Given the description of an element on the screen output the (x, y) to click on. 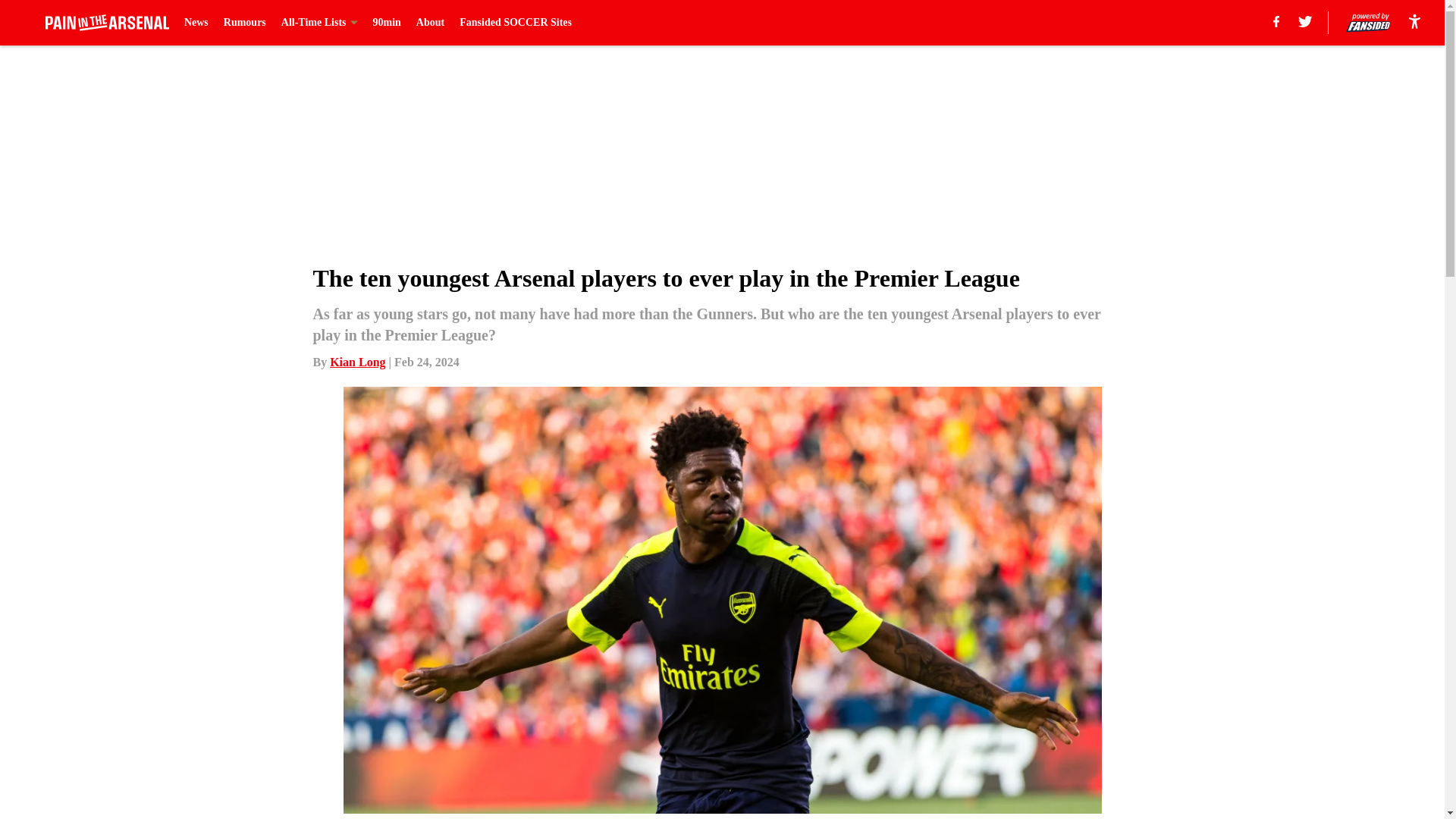
90min (386, 22)
About (430, 22)
Fansided SOCCER Sites (516, 22)
Rumours (245, 22)
Kian Long (357, 361)
News (196, 22)
